Given the description of an element on the screen output the (x, y) to click on. 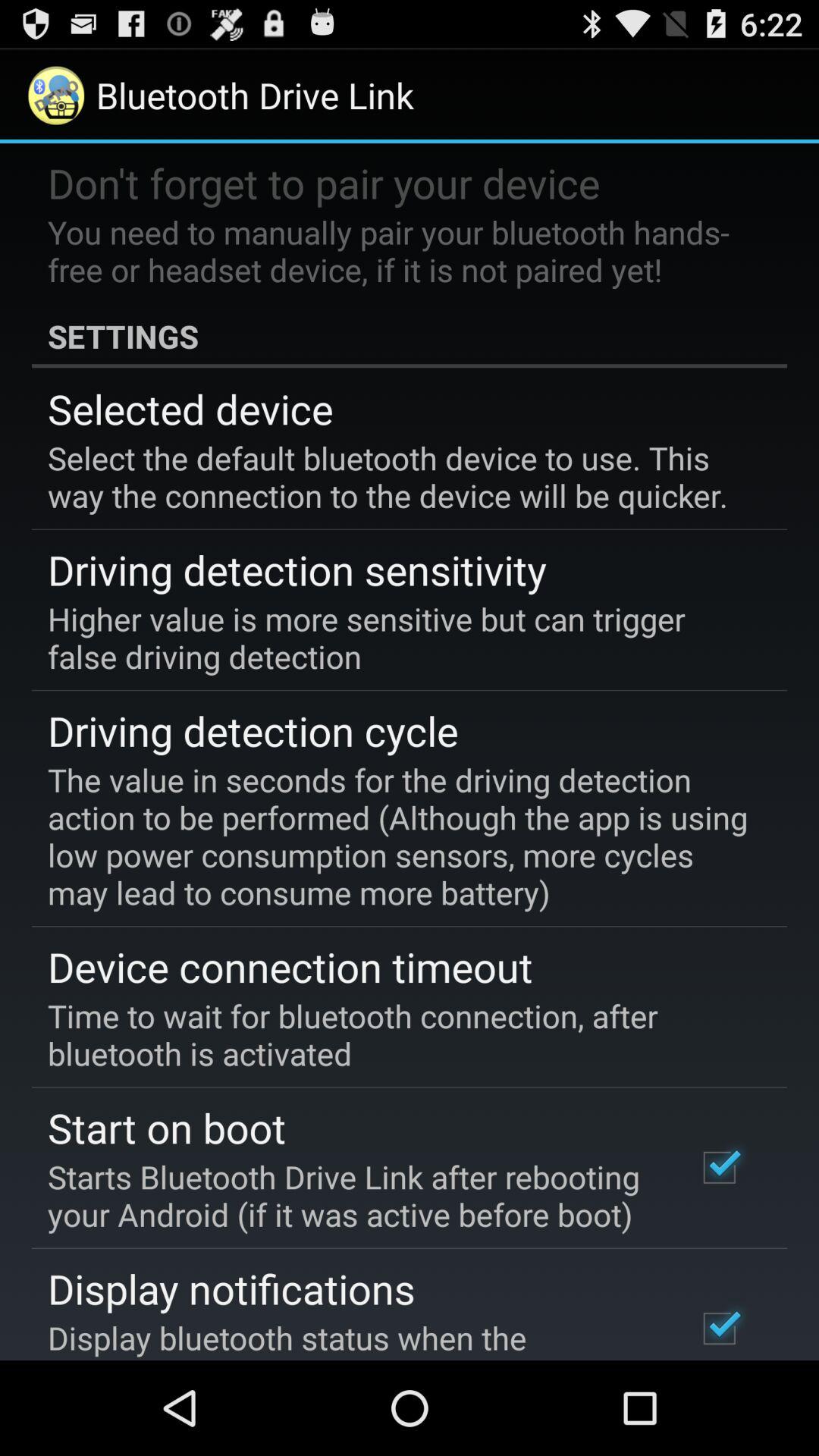
press icon above settings app (399, 250)
